Given the description of an element on the screen output the (x, y) to click on. 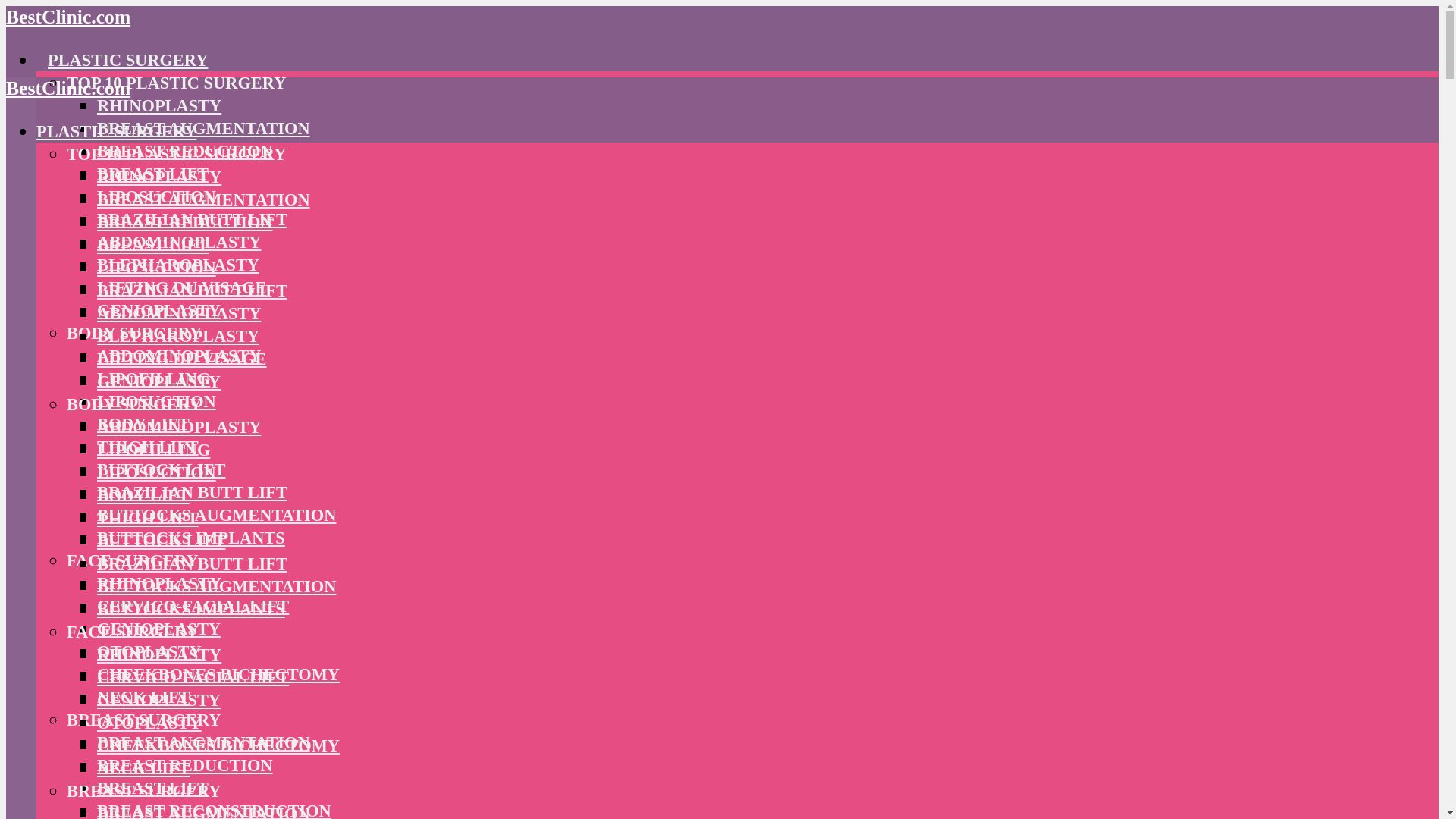
BestClinic.com (68, 16)
BREAST LIFT (152, 173)
BREAST REDUCTION (185, 764)
RHINOPLASTY (159, 105)
BREAST LIFT (152, 787)
BLEPHAROPLASTY (178, 264)
BUTTOCK LIFT (161, 469)
BODY SURGERY (134, 333)
LIPOSUCTION (156, 401)
BREAST RECONSTRUCTION (214, 810)
BODY LIFT (143, 424)
LIFTING DU VISAGE (181, 287)
RHINOPLASTY (159, 583)
GENIOPLASTY (159, 310)
ABDOMINOPLASTY (178, 241)
